Given the description of an element on the screen output the (x, y) to click on. 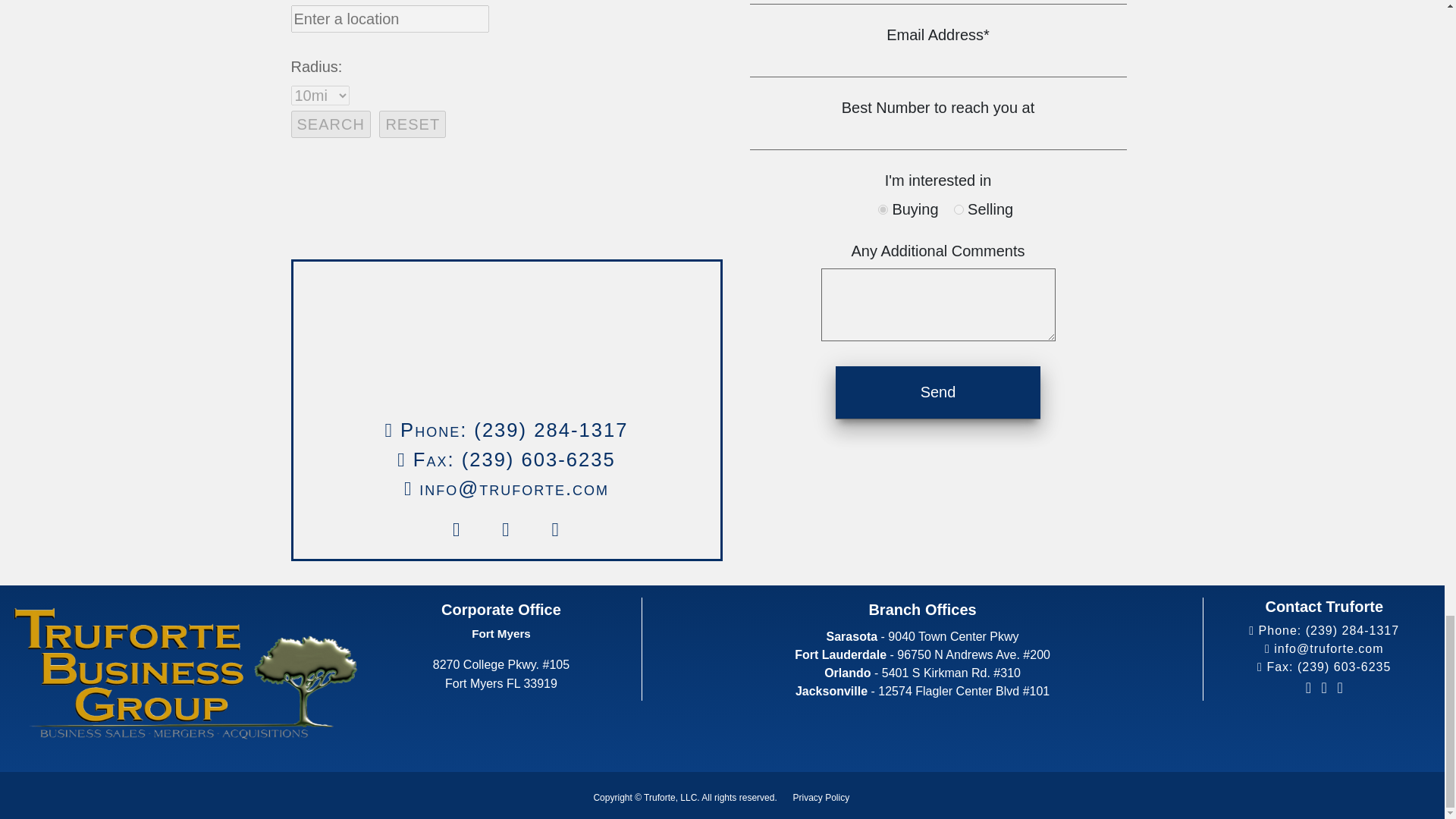
Search (331, 124)
Reset (411, 124)
Selling (958, 209)
Search (331, 124)
Send (938, 392)
Buying (882, 209)
